Given the description of an element on the screen output the (x, y) to click on. 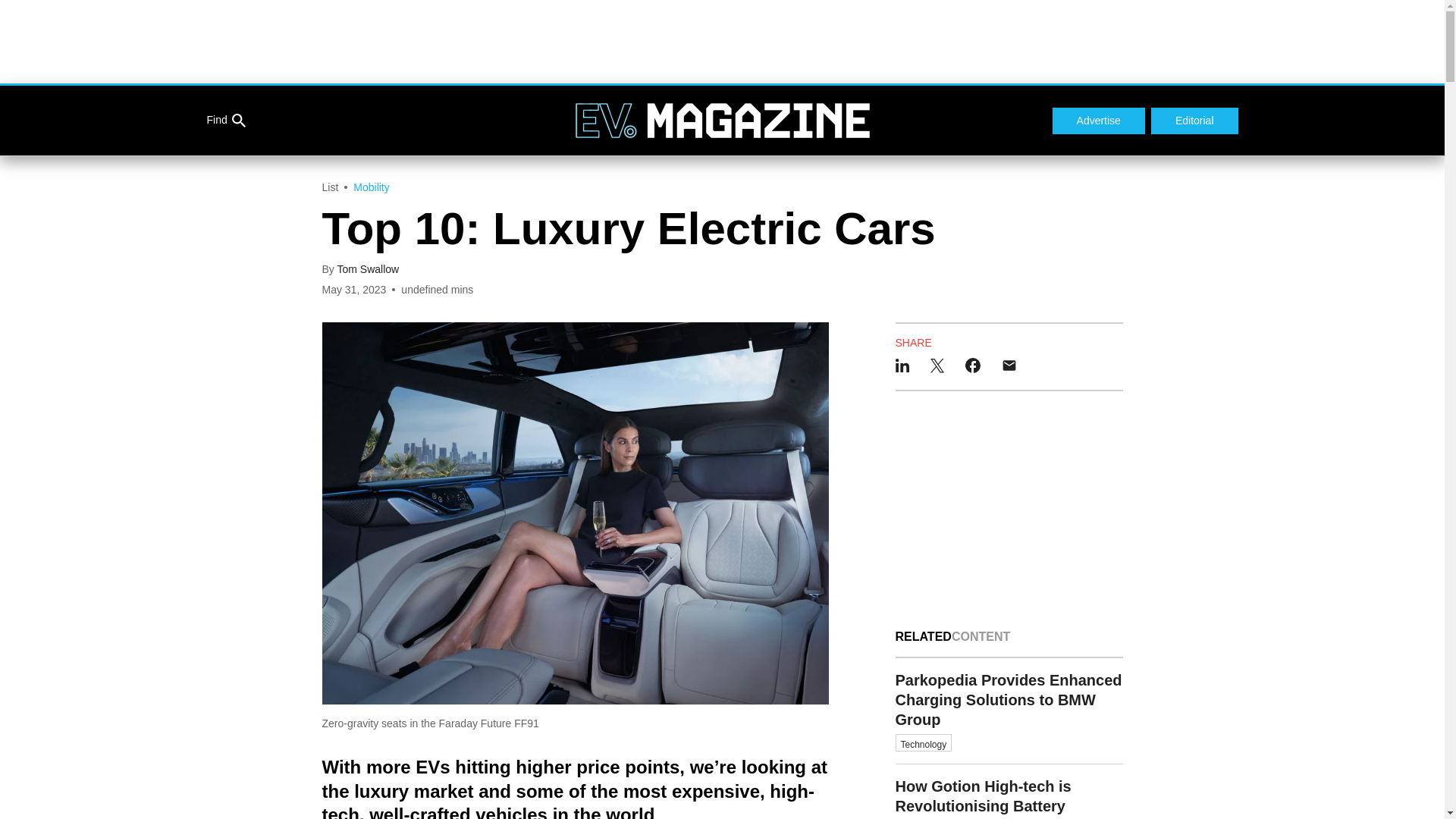
Find (225, 120)
Tom Swallow (367, 268)
Advertise (1098, 121)
Editorial (1195, 121)
